Given the description of an element on the screen output the (x, y) to click on. 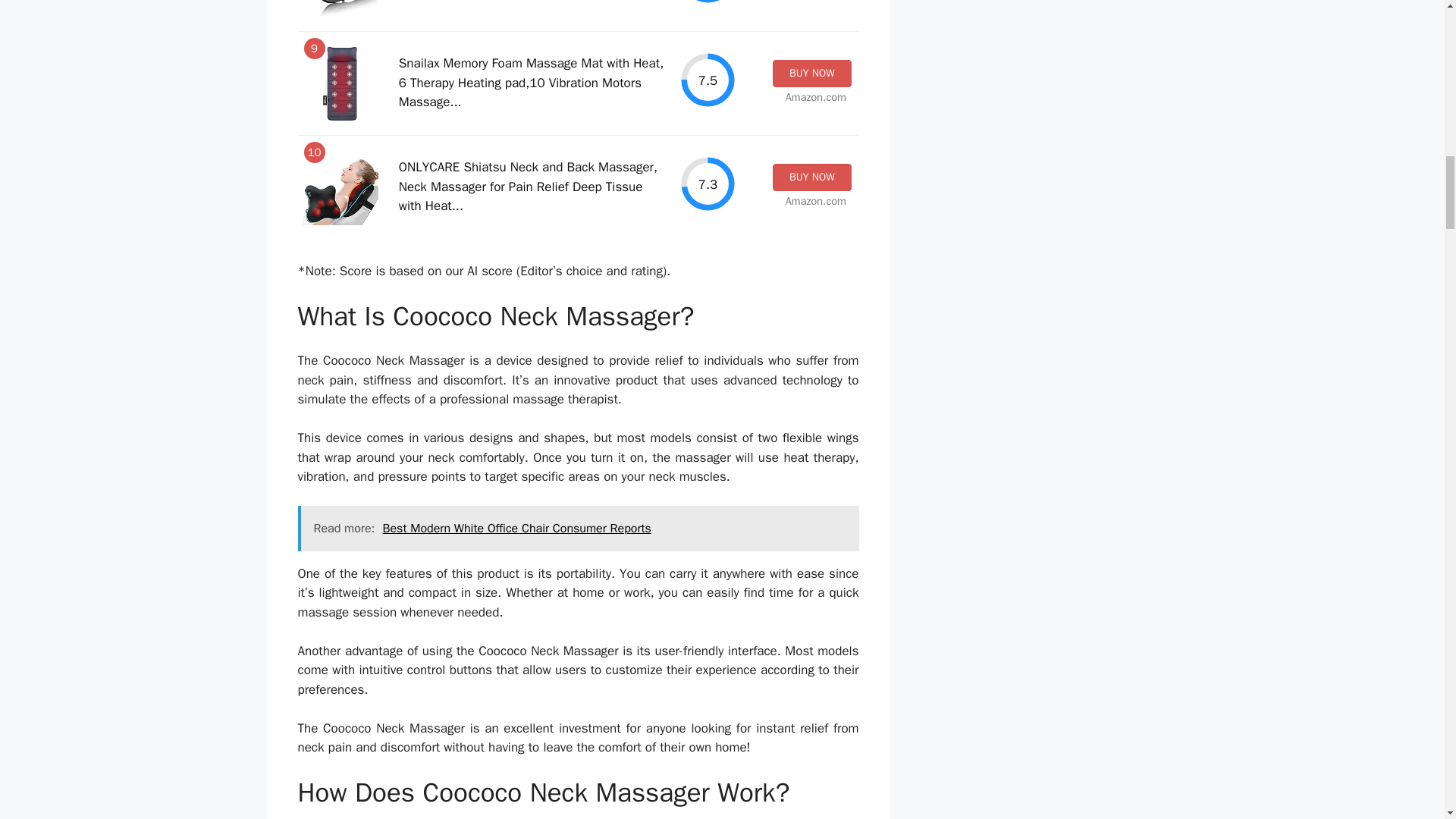
7.6 (707, 2)
7.5 (707, 79)
7.3 (707, 183)
